Given the description of an element on the screen output the (x, y) to click on. 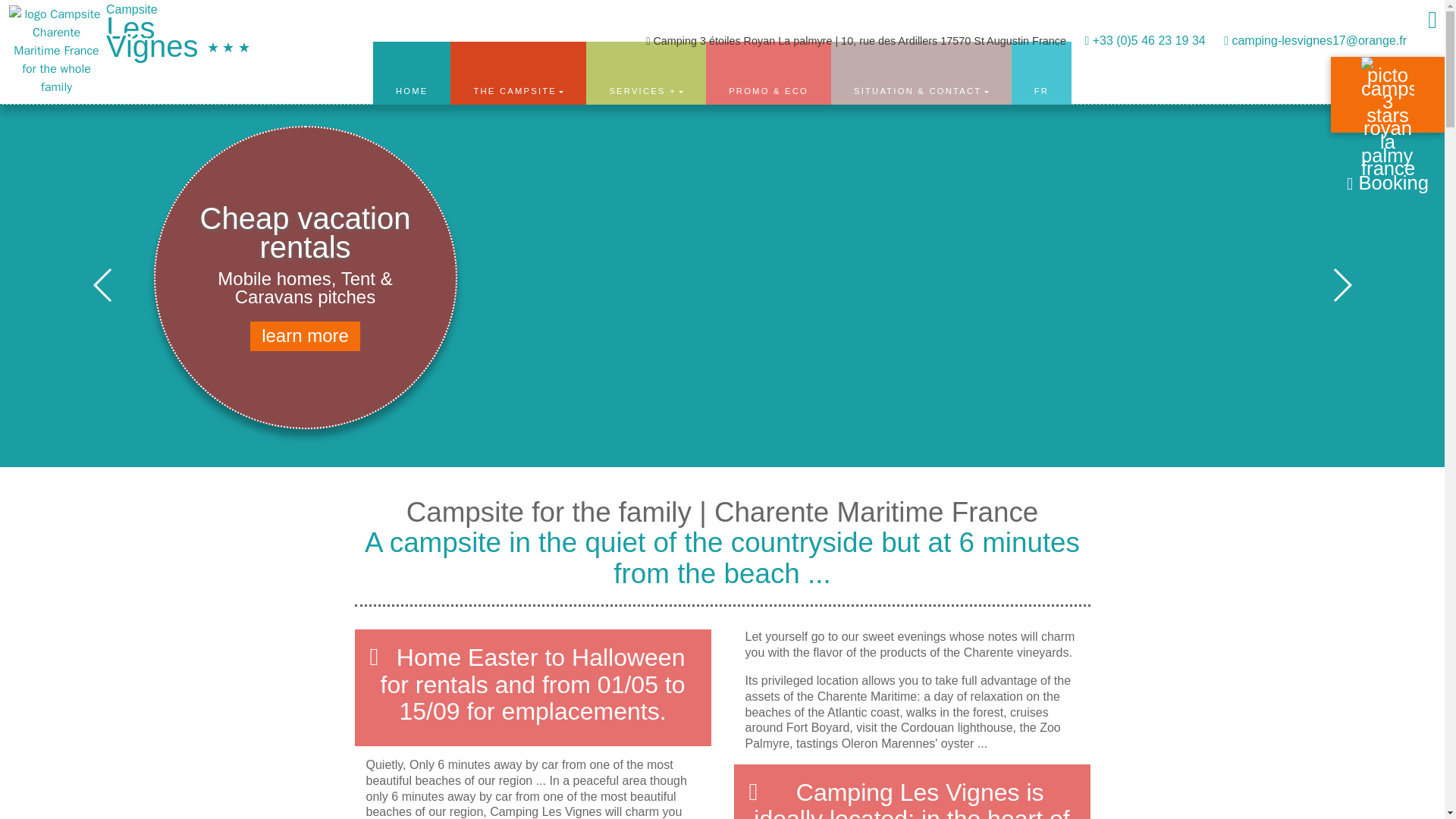
home page (128, 17)
FR (1041, 72)
THE CAMPSITE (517, 72)
HOME (411, 72)
learn more (304, 336)
